Given the description of an element on the screen output the (x, y) to click on. 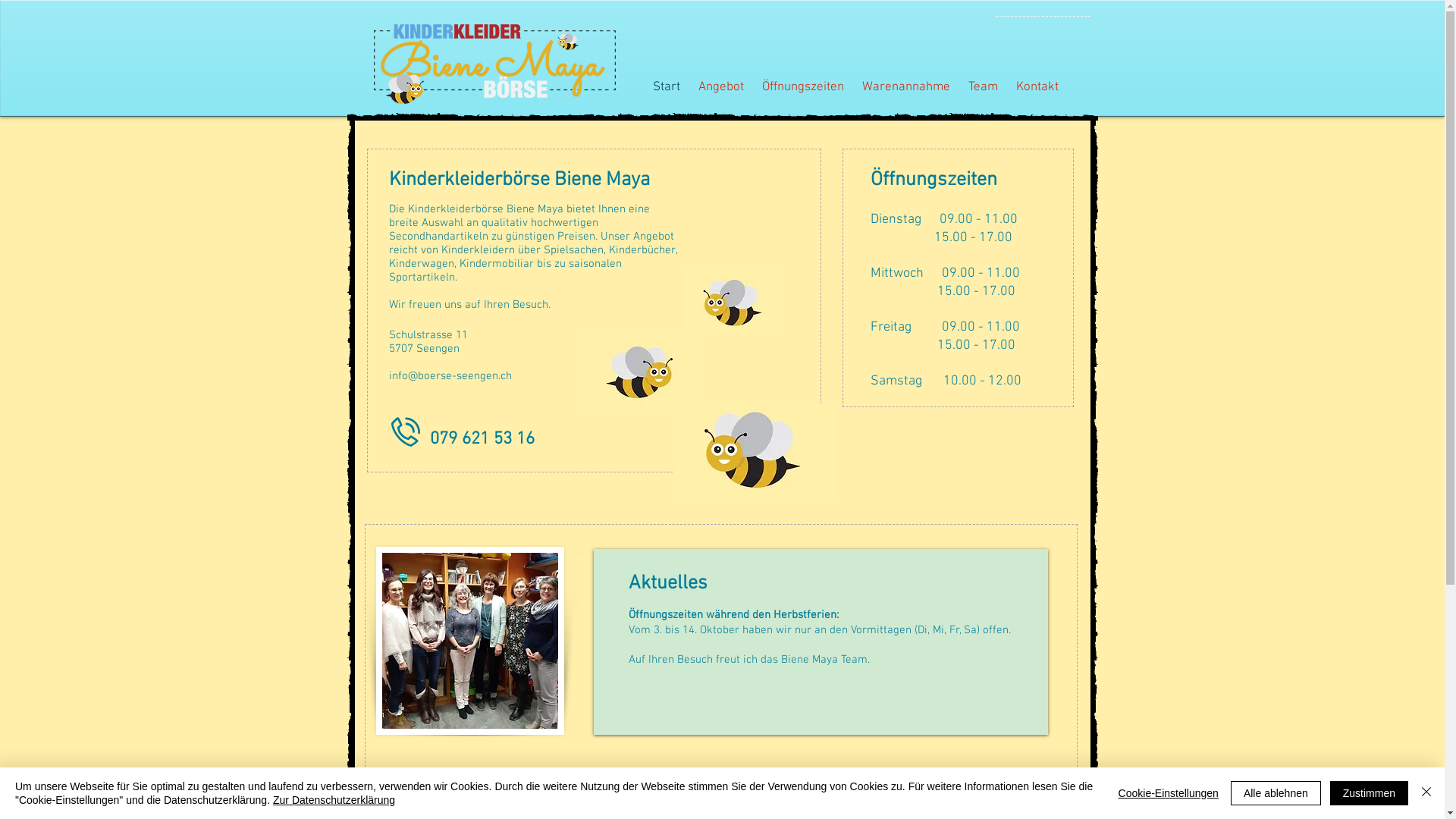
Team Element type: text (982, 86)
Start Element type: text (665, 86)
Kinderkleider Element type: hover (752, 451)
Kinderkleider Element type: hover (733, 299)
Warenannahme Element type: text (905, 86)
Kontakt Element type: text (1037, 86)
Kinderkleider Element type: hover (636, 373)
Zustimmen Element type: text (1369, 793)
zeiten Element type: text (971, 178)
Angebot Element type: text (720, 86)
Aktuelles Element type: text (666, 583)
info@boerse-seengen.ch Element type: text (449, 375)
Alle ablehnen Element type: text (1275, 793)
